Given the description of an element on the screen output the (x, y) to click on. 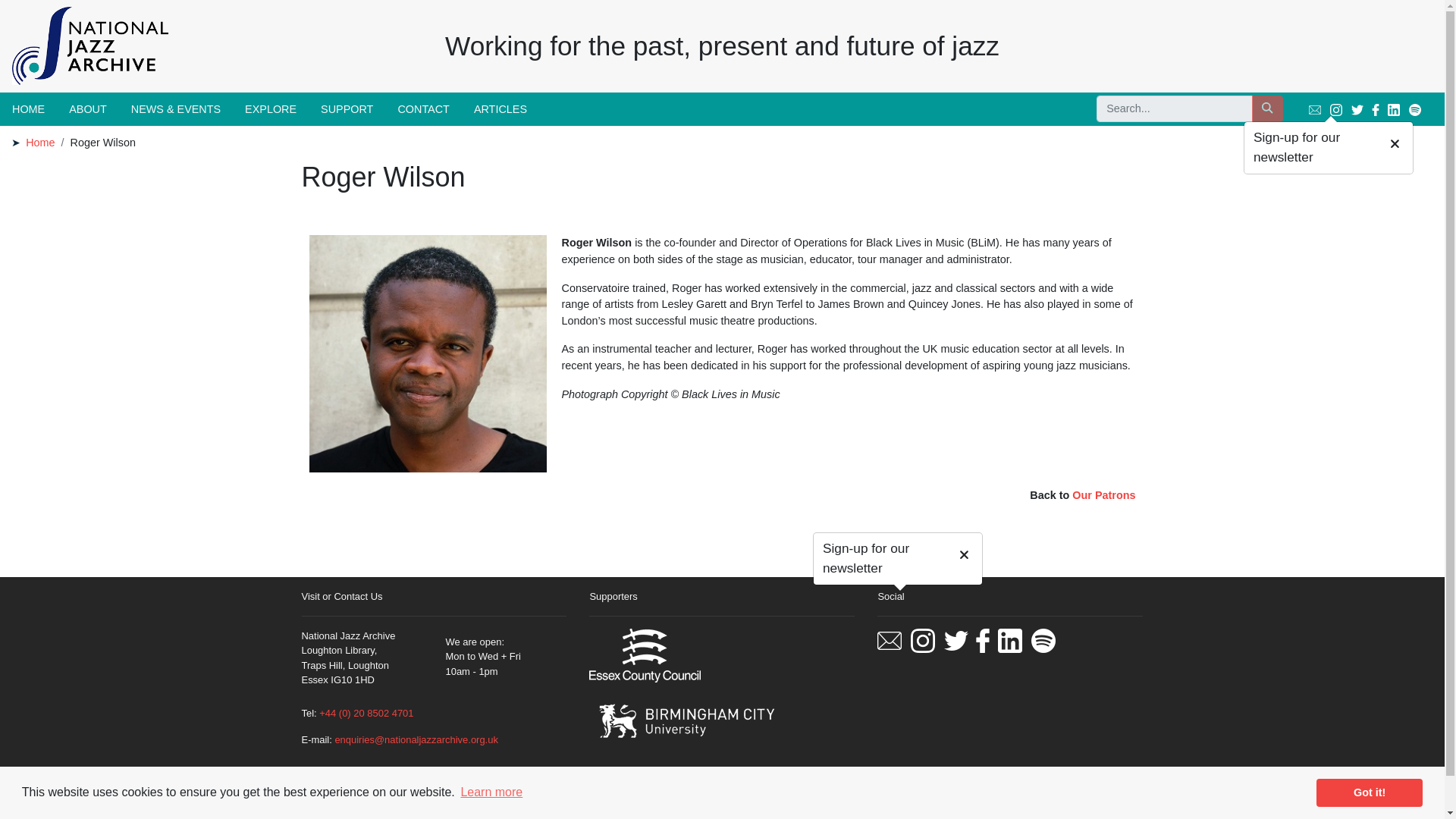
LinkedIn (1009, 640)
LinkedIn (1393, 110)
Learn more (491, 792)
Spotify (1415, 110)
Birmingham City University (686, 720)
Home (40, 142)
Instagram (922, 640)
Essex County Council (644, 655)
The National Lottery Heritage Fund (658, 785)
Our Patrons (1103, 494)
